Given the description of an element on the screen output the (x, y) to click on. 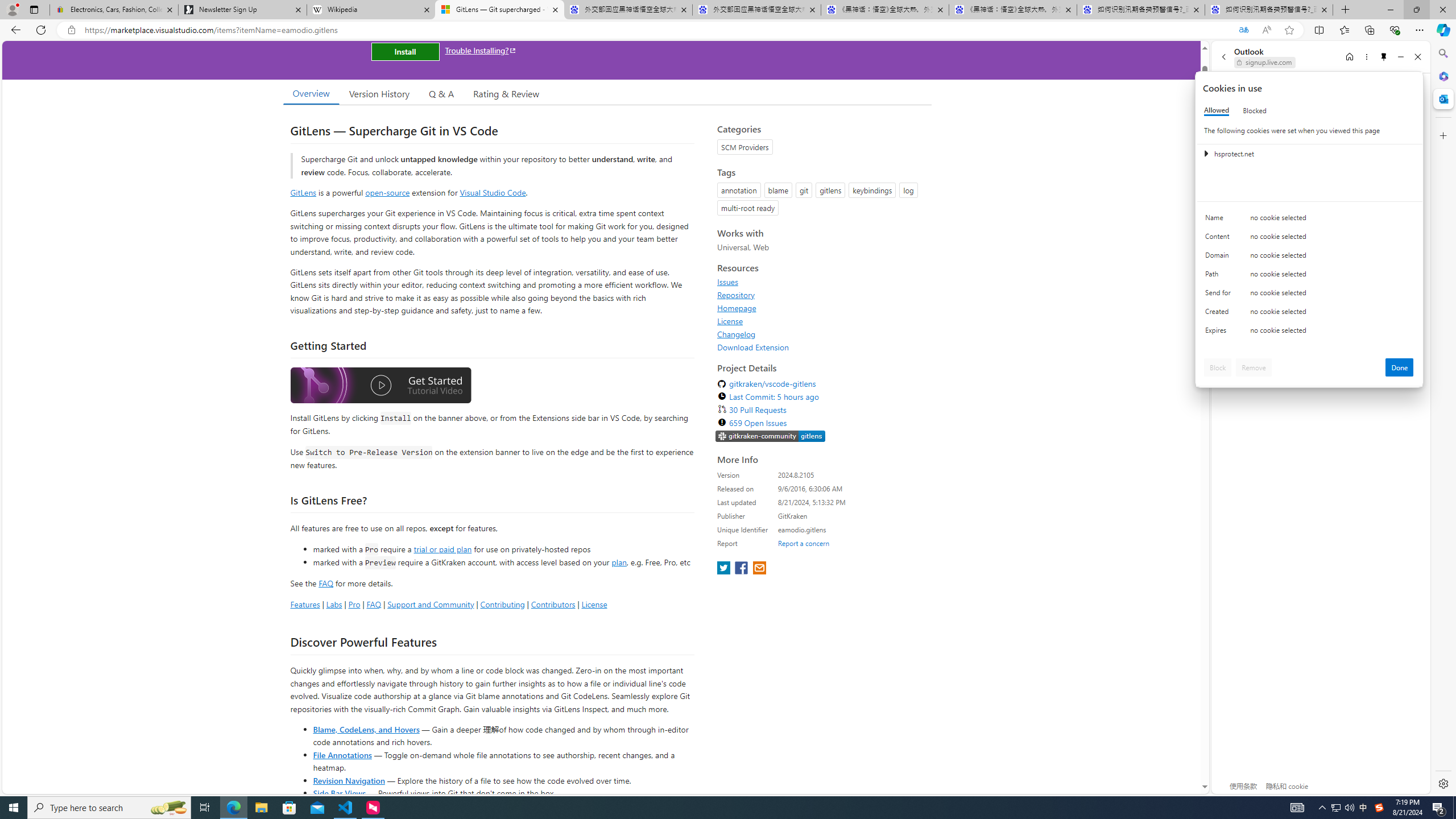
Remove (1253, 367)
Allowed (1216, 110)
Path (1219, 276)
Send for (1219, 295)
no cookie selected (1331, 332)
Block (1217, 367)
Name (1219, 220)
Created (1219, 313)
Domain (1219, 257)
Content (1219, 239)
Blocked (1255, 110)
Class: c0153 c0157 c0154 (1309, 220)
Done (1399, 367)
Class: c0153 c0157 (1309, 332)
Expires (1219, 332)
